Given the description of an element on the screen output the (x, y) to click on. 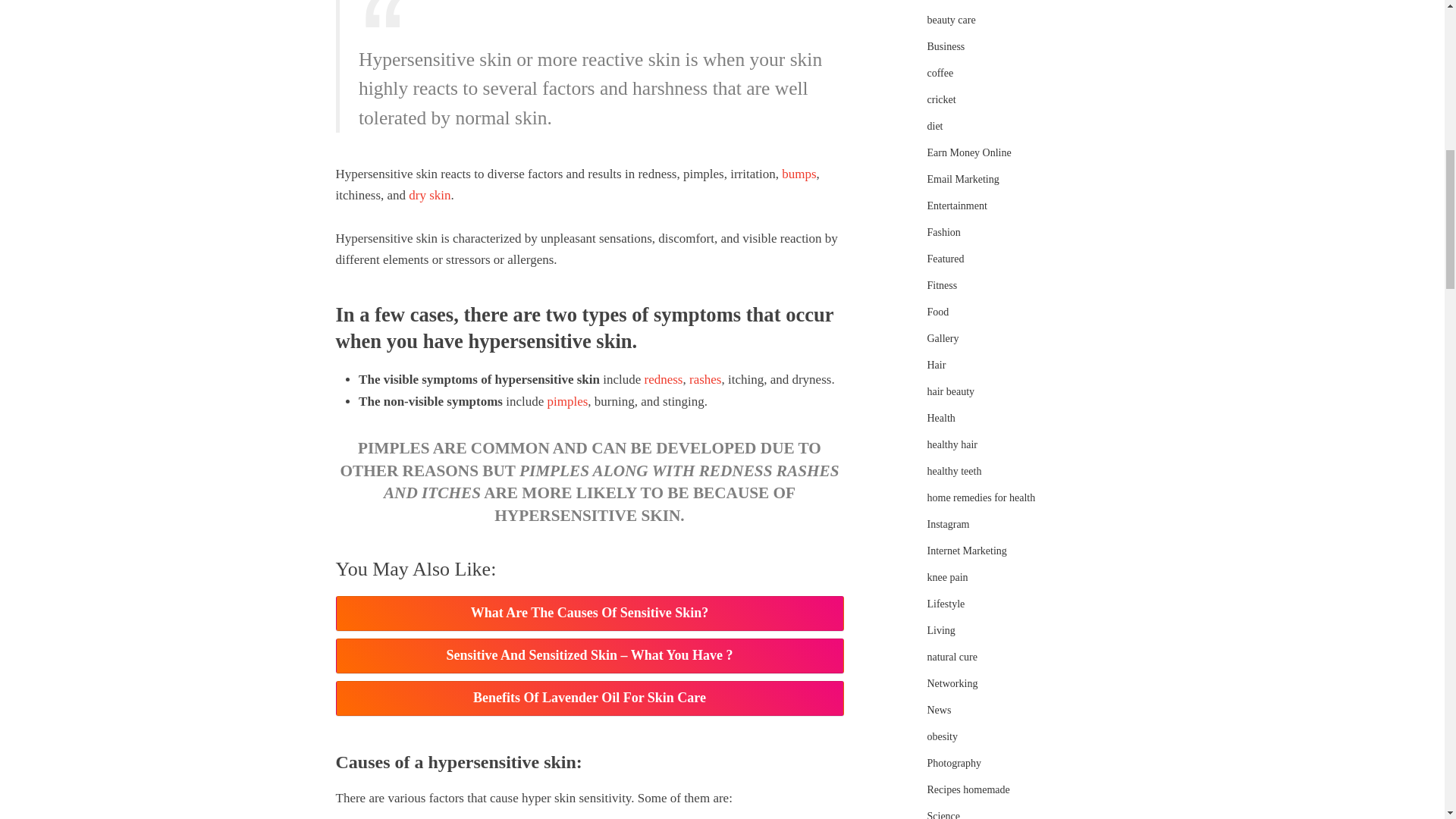
Benefits Of Lavender Oil For Skin Care (588, 697)
bumps (798, 173)
dry skin (429, 195)
rashes (704, 379)
pimples (567, 400)
What Are The Causes Of Sensitive Skin? (588, 613)
redness (662, 379)
